Given the description of an element on the screen output the (x, y) to click on. 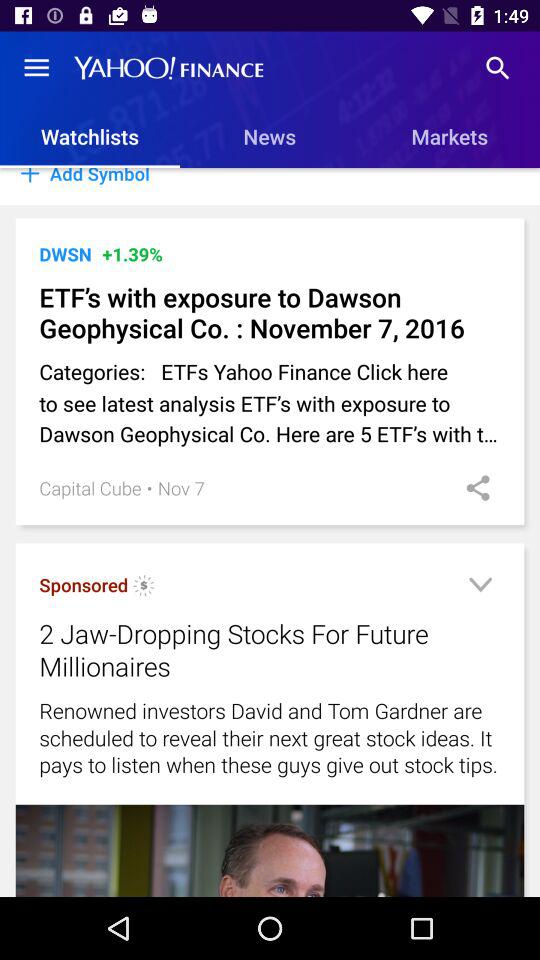
press item above the watchlists icon (36, 68)
